Given the description of an element on the screen output the (x, y) to click on. 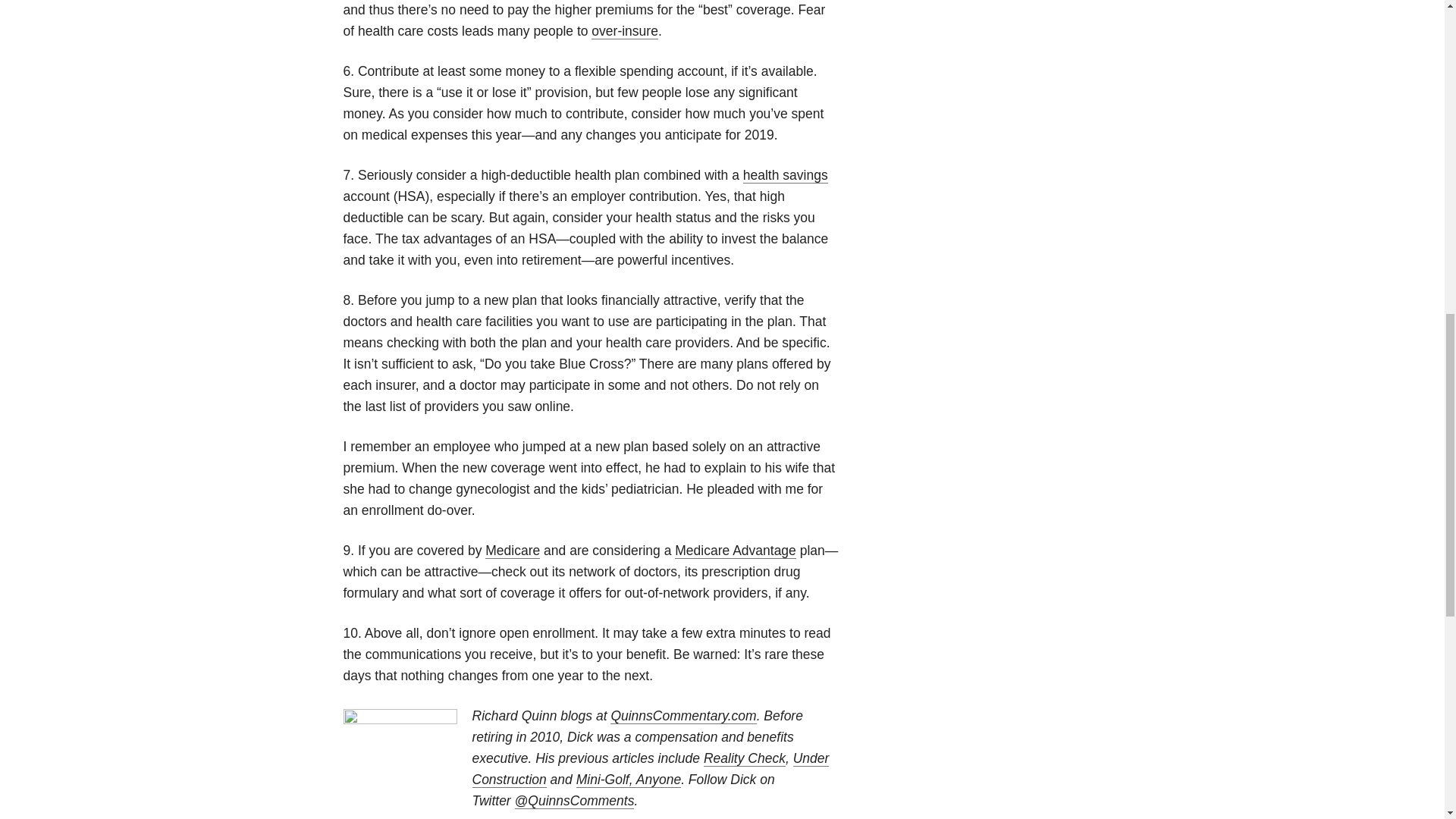
Under Construction (649, 769)
Medicare Advantage (735, 550)
Medicare (512, 550)
over-insure (624, 31)
health savings (785, 175)
QuinnsCommentary.com (682, 715)
Mini-Golf, Anyone (628, 779)
Reality Check (744, 758)
